Given the description of an element on the screen output the (x, y) to click on. 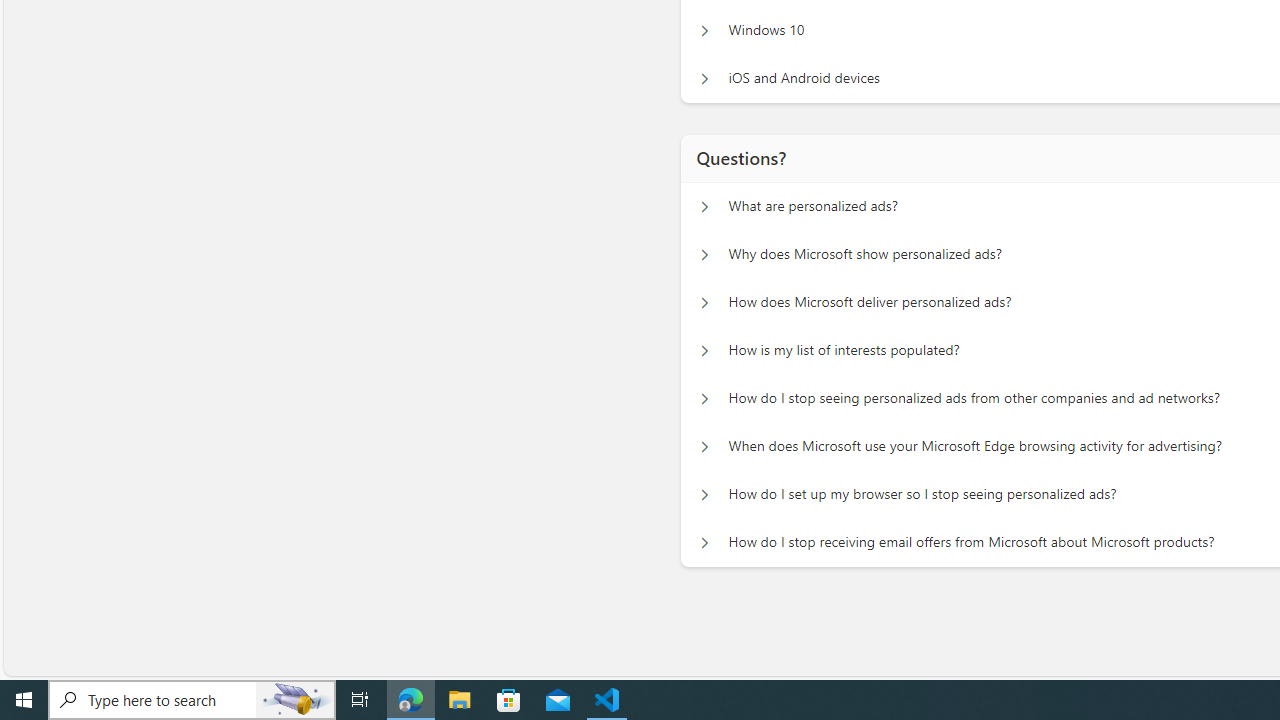
Questions? How does Microsoft deliver personalized ads? (704, 302)
Manage personalized ads on your device Windows 10 (704, 30)
Questions? How is my list of interests populated? (704, 350)
Questions? What are personalized ads? (704, 206)
Questions? Why does Microsoft show personalized ads? (704, 255)
